Given the description of an element on the screen output the (x, y) to click on. 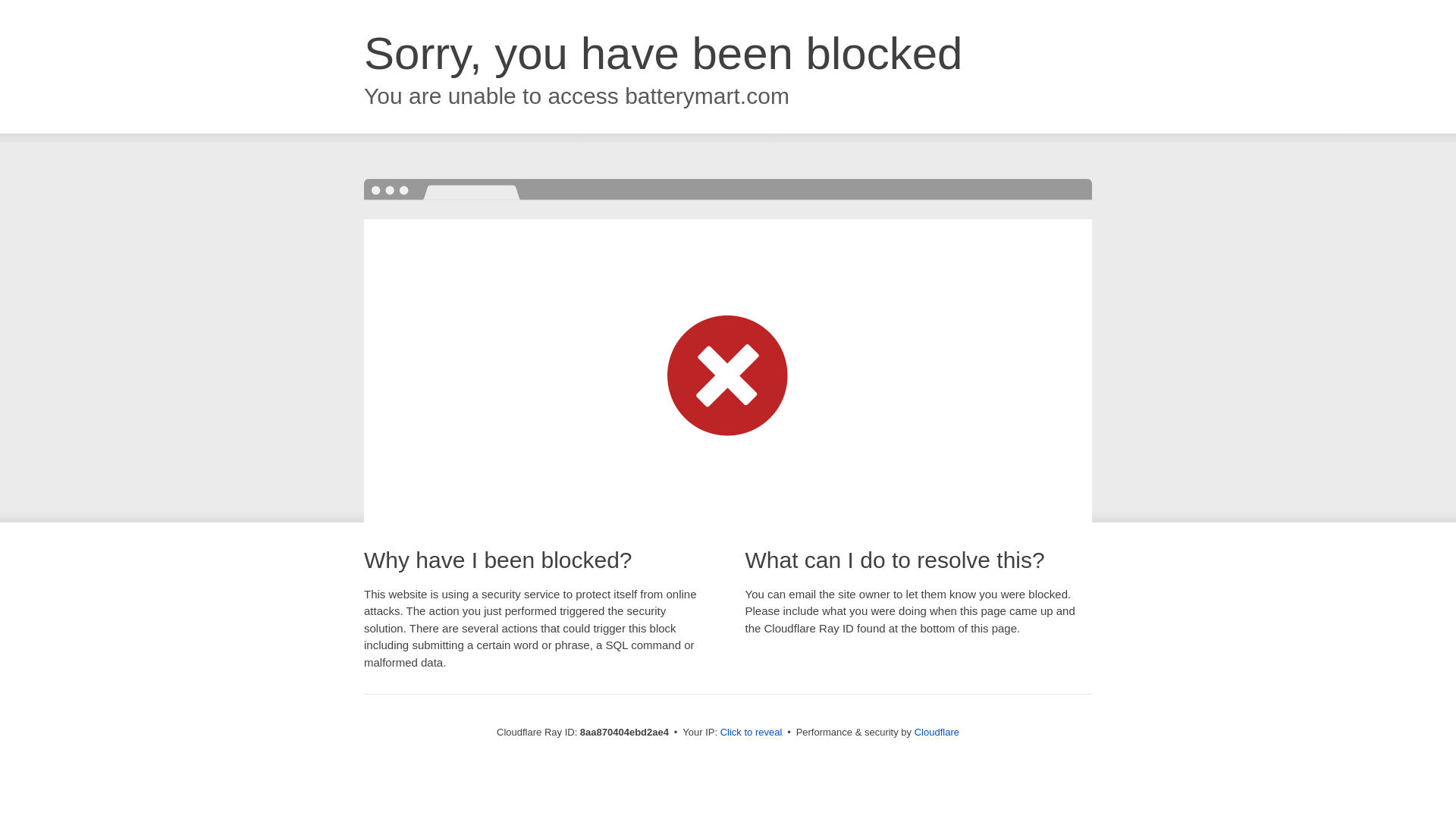
Click to reveal (751, 732)
Cloudflare (936, 731)
